Given the description of an element on the screen output the (x, y) to click on. 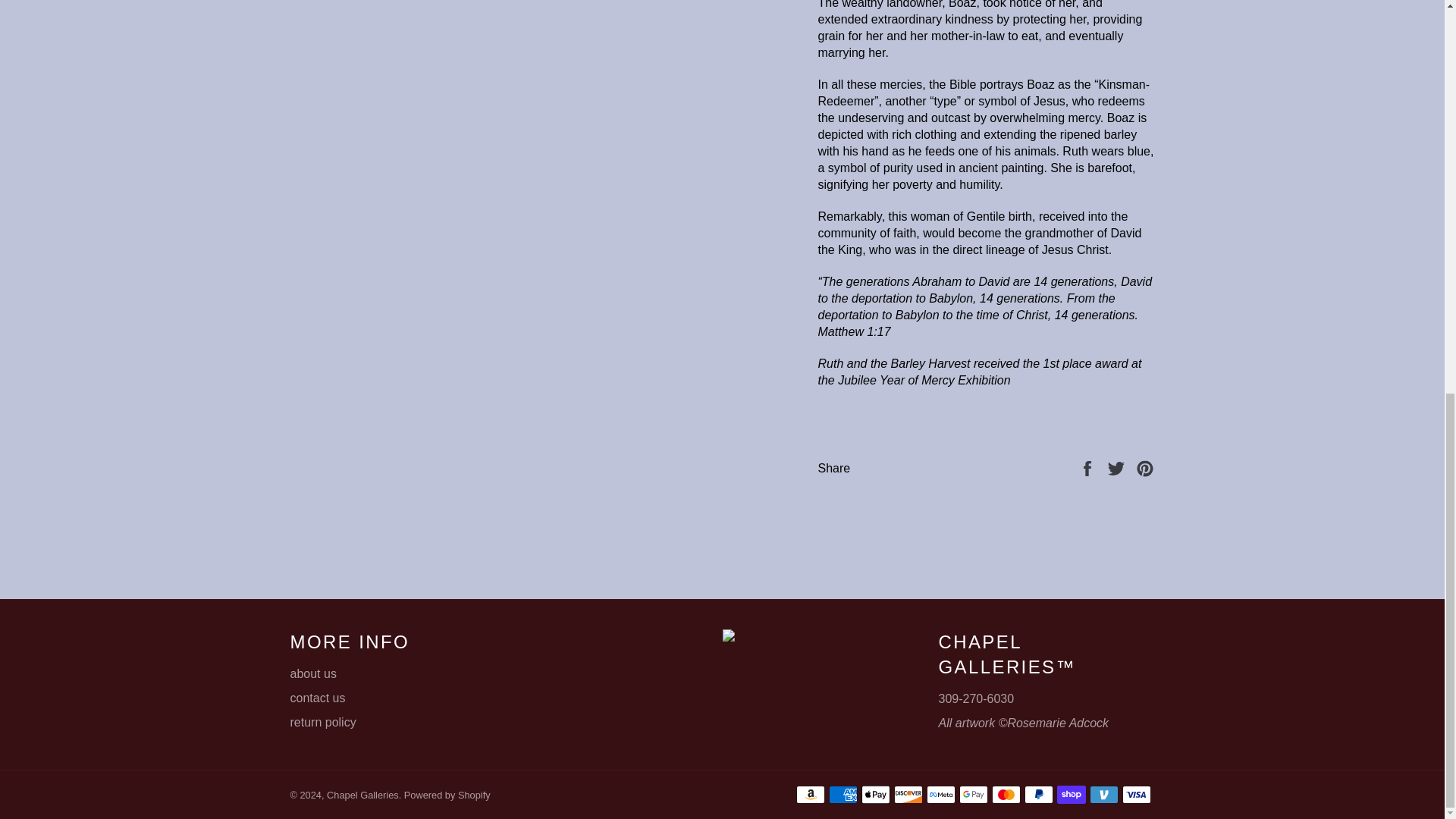
Share on Facebook (1088, 467)
Tweet on Twitter (1117, 467)
Pin on Pinterest (1144, 467)
